Given the description of an element on the screen output the (x, y) to click on. 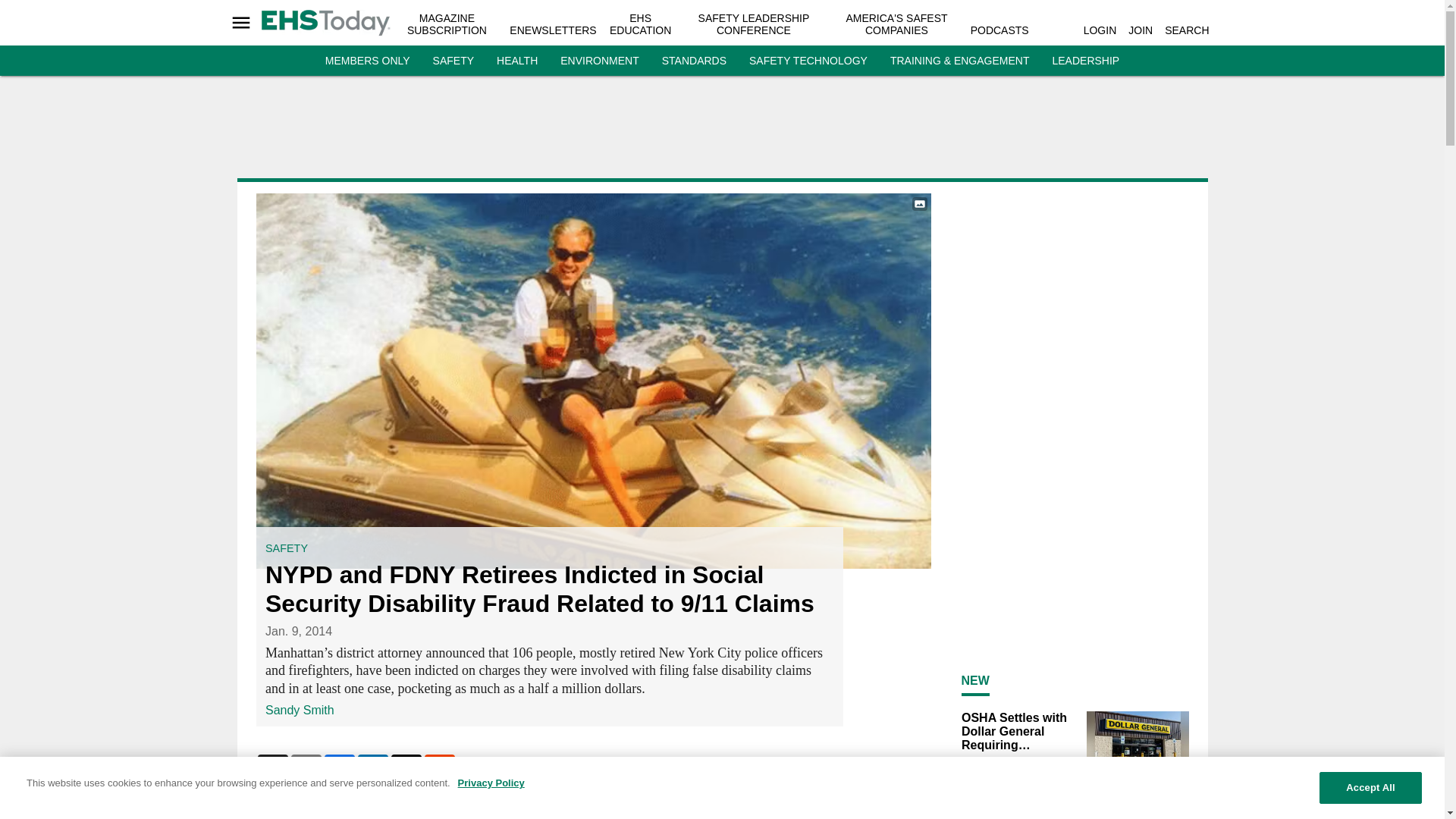
MAGAZINE SUBSCRIPTION (446, 24)
PODCASTS (1000, 30)
SAFETY (453, 60)
STANDARDS (694, 60)
EHS EDUCATION (640, 24)
SAFETY LEADERSHIP CONFERENCE (753, 24)
ENVIRONMENT (599, 60)
LOGIN (1099, 30)
3rd party ad content (721, 132)
AMERICA'S SAFEST COMPANIES (896, 24)
MEMBERS ONLY (367, 60)
LEADERSHIP (1085, 60)
SAFETY TECHNOLOGY (808, 60)
SEARCH (1186, 30)
HEALTH (516, 60)
